Given the description of an element on the screen output the (x, y) to click on. 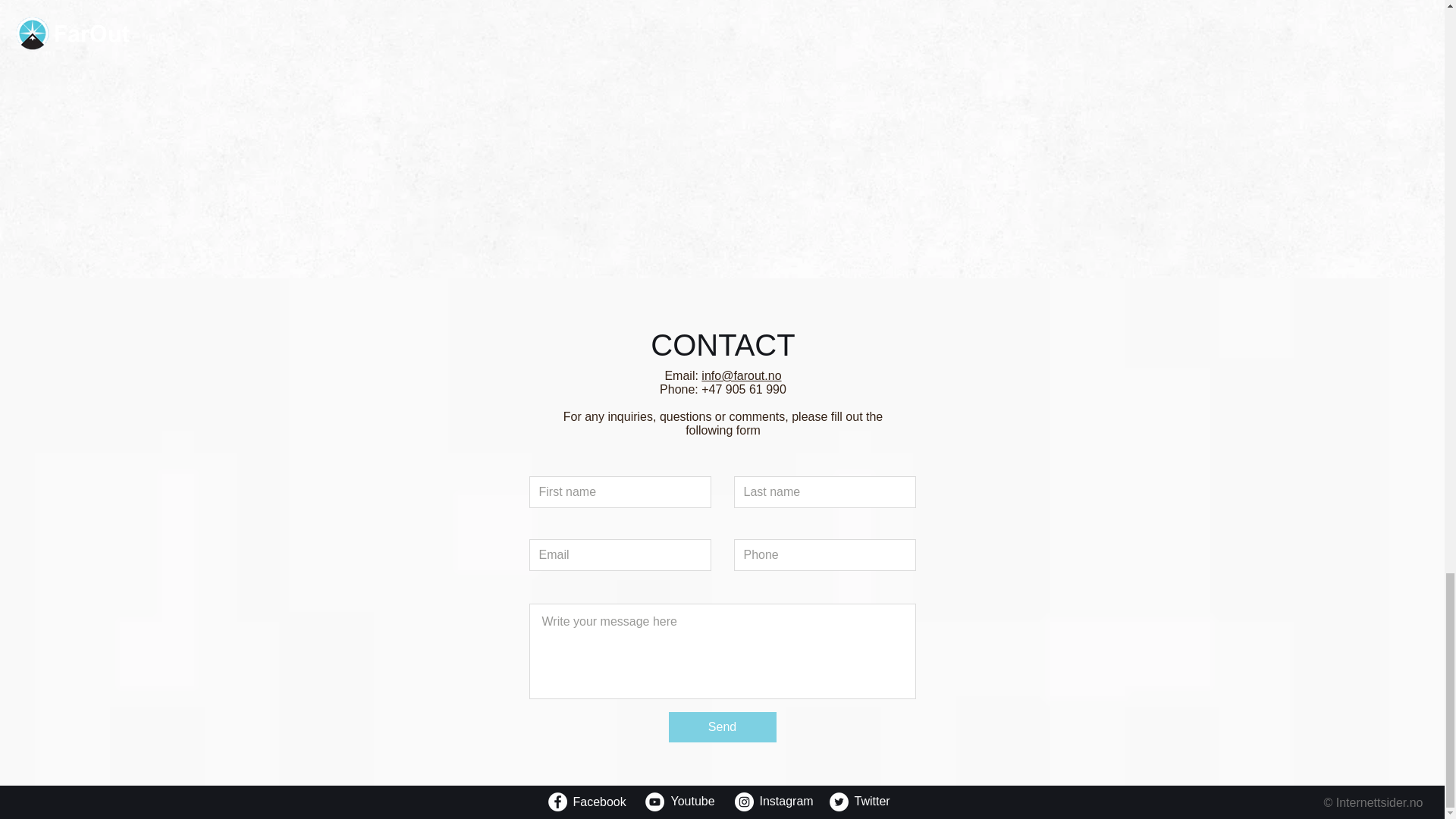
Send (722, 726)
